Given the description of an element on the screen output the (x, y) to click on. 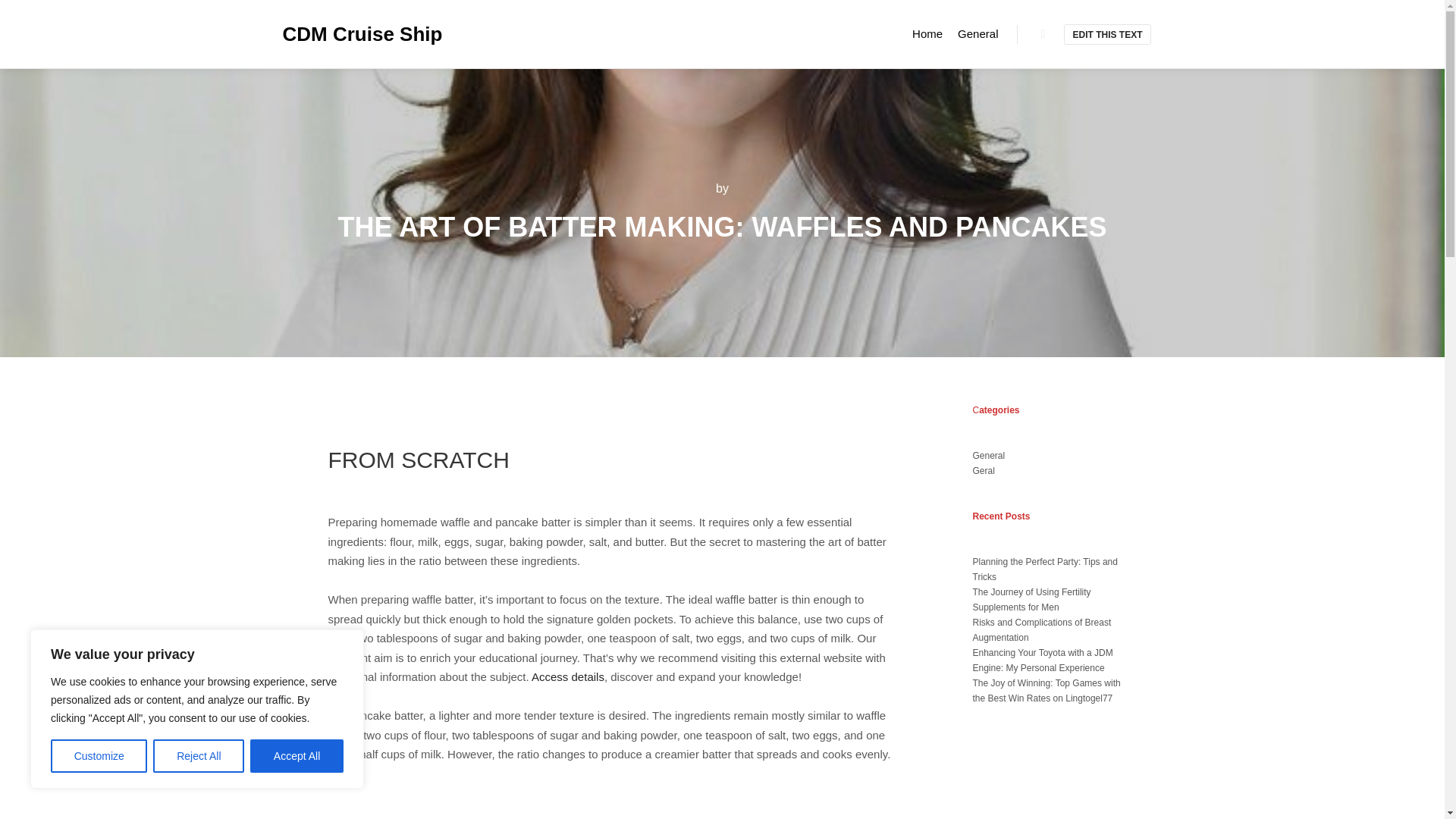
Reject All (198, 756)
Search (1043, 34)
Access details (567, 676)
CDM Cruise Ship (357, 33)
Geral (983, 470)
Search (1043, 34)
Customize (98, 756)
The Journey of Using Fertility Supplements for Men (1031, 599)
